Given the description of an element on the screen output the (x, y) to click on. 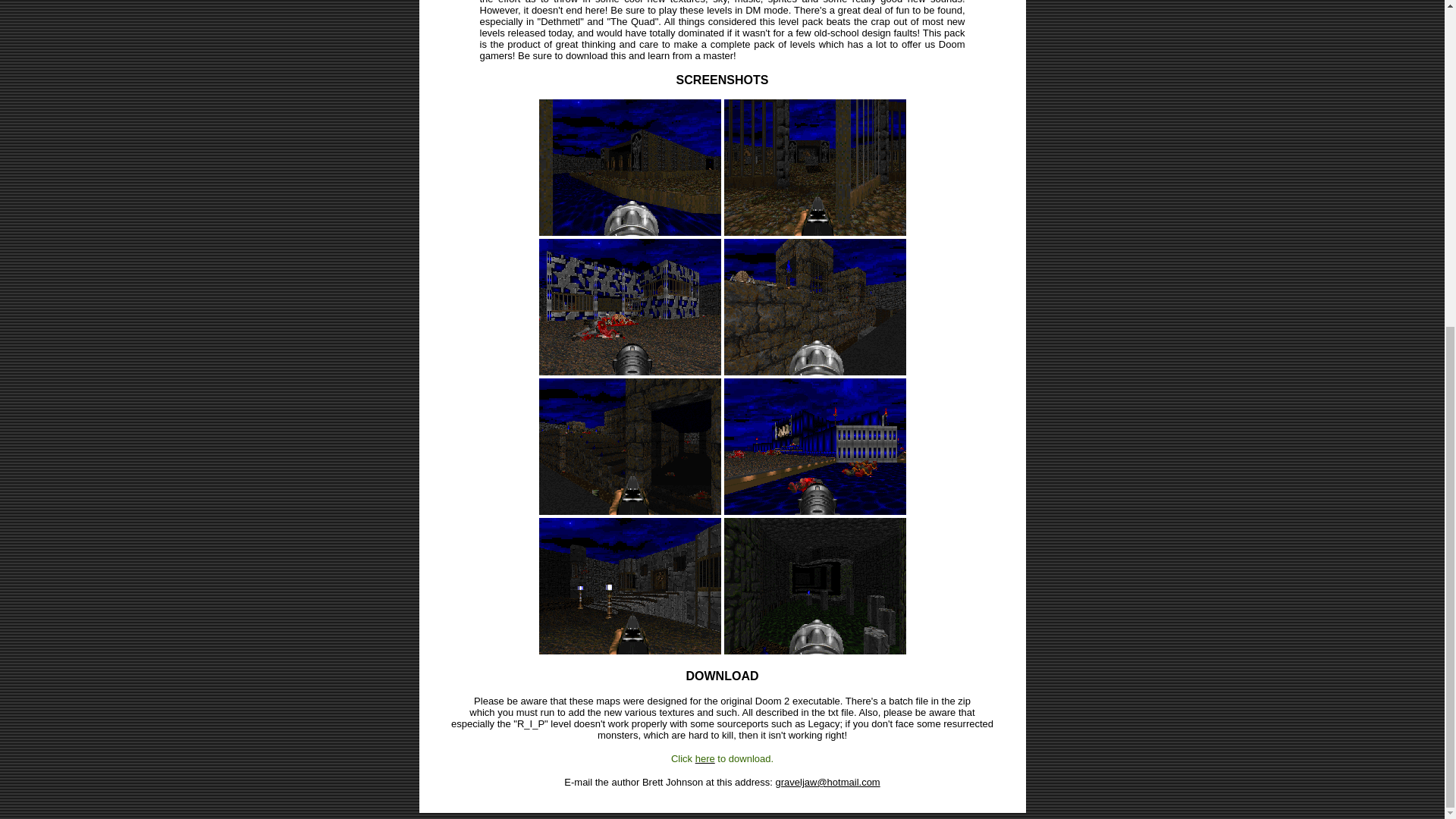
here (704, 758)
